Given the description of an element on the screen output the (x, y) to click on. 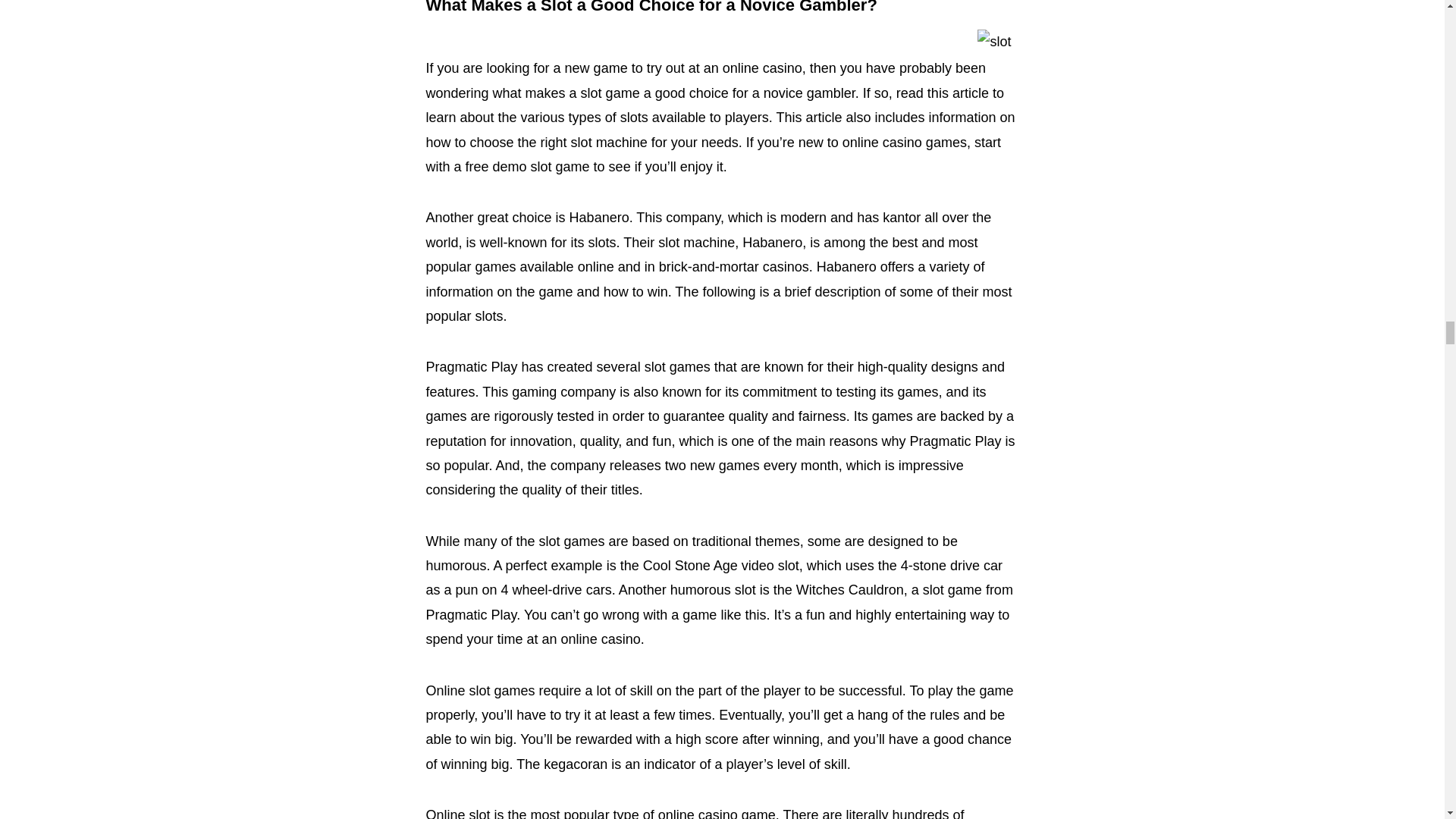
What Makes a Slot a Good Choice for a Novice Gambler? (651, 7)
